Given the description of an element on the screen output the (x, y) to click on. 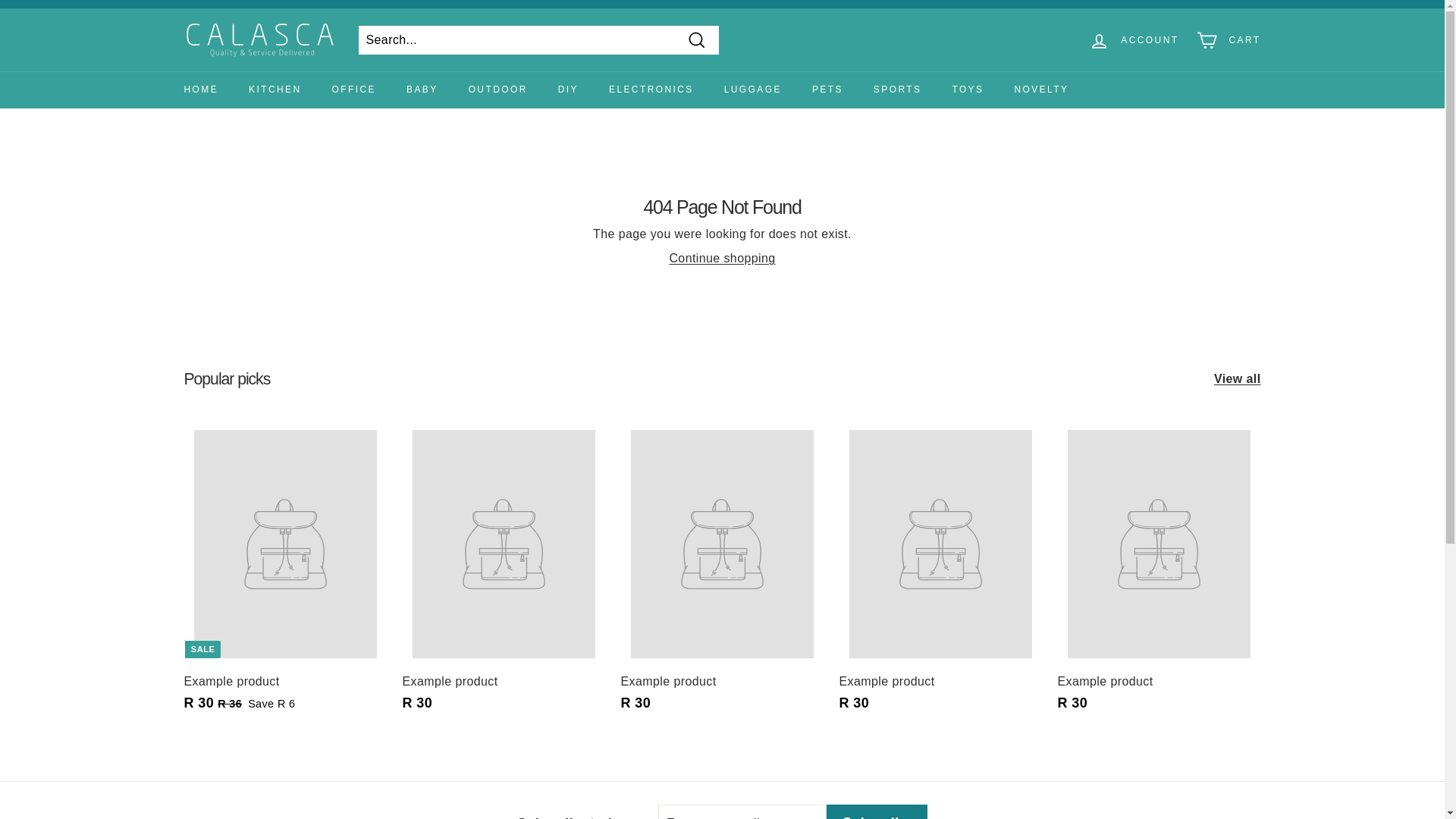
NOVELTY (1040, 89)
KITCHEN (273, 89)
HOME (200, 89)
OUTDOOR (497, 89)
LUGGAGE (752, 89)
PETS (827, 89)
TOYS (967, 89)
DIY (568, 89)
